Given the description of an element on the screen output the (x, y) to click on. 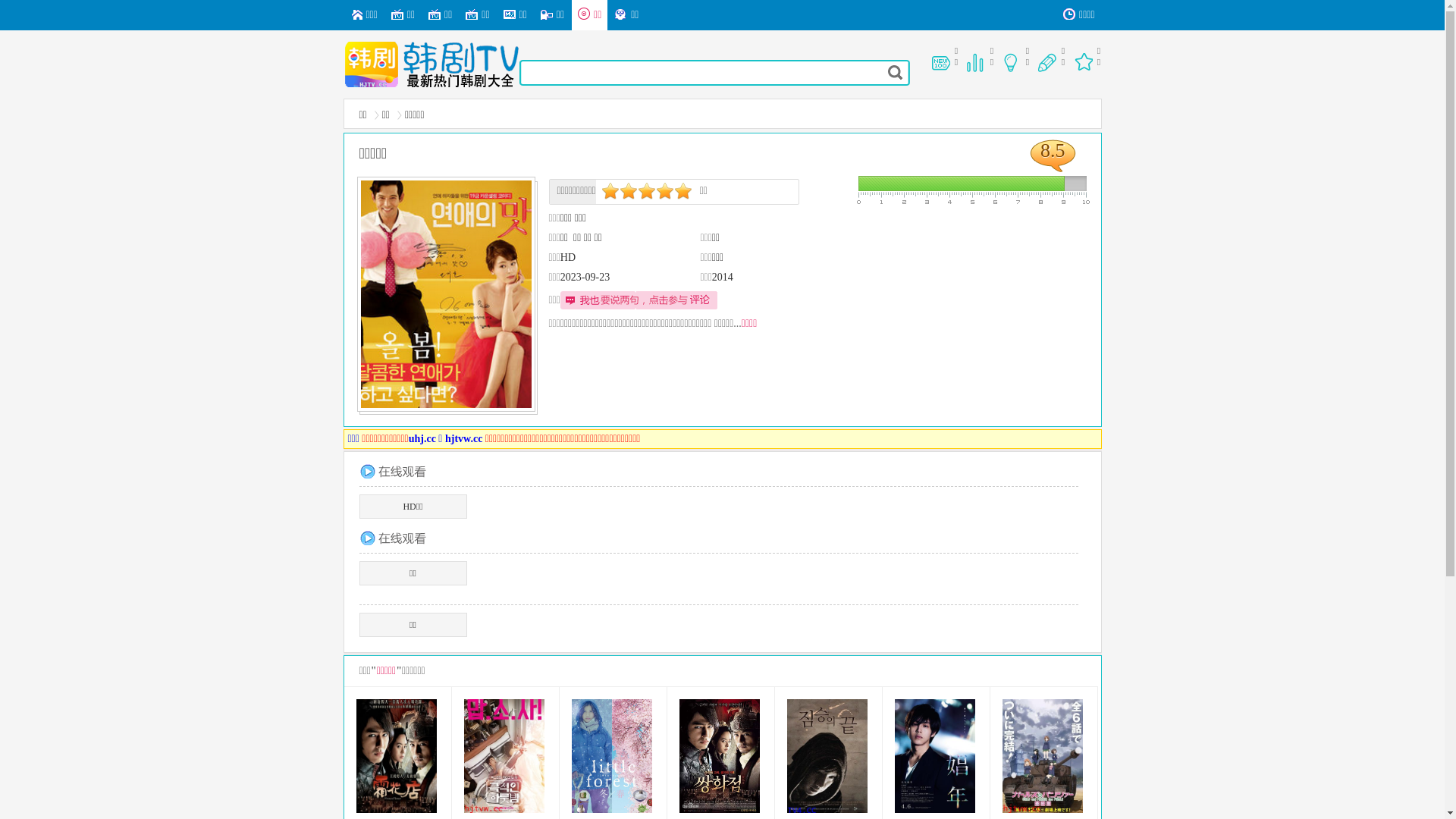
2014 Element type: text (722, 276)
